Given the description of an element on the screen output the (x, y) to click on. 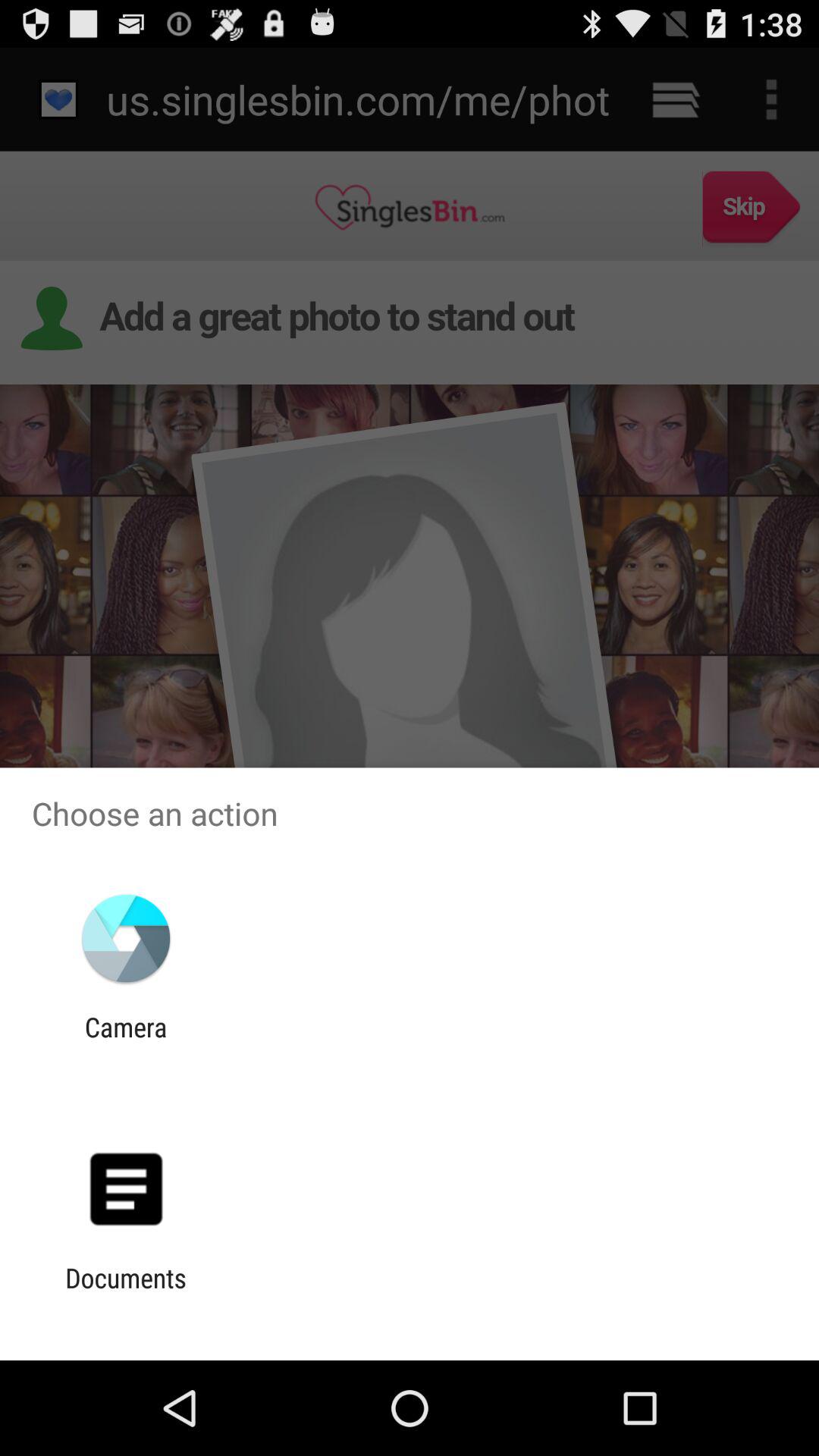
click camera app (125, 1042)
